Given the description of an element on the screen output the (x, y) to click on. 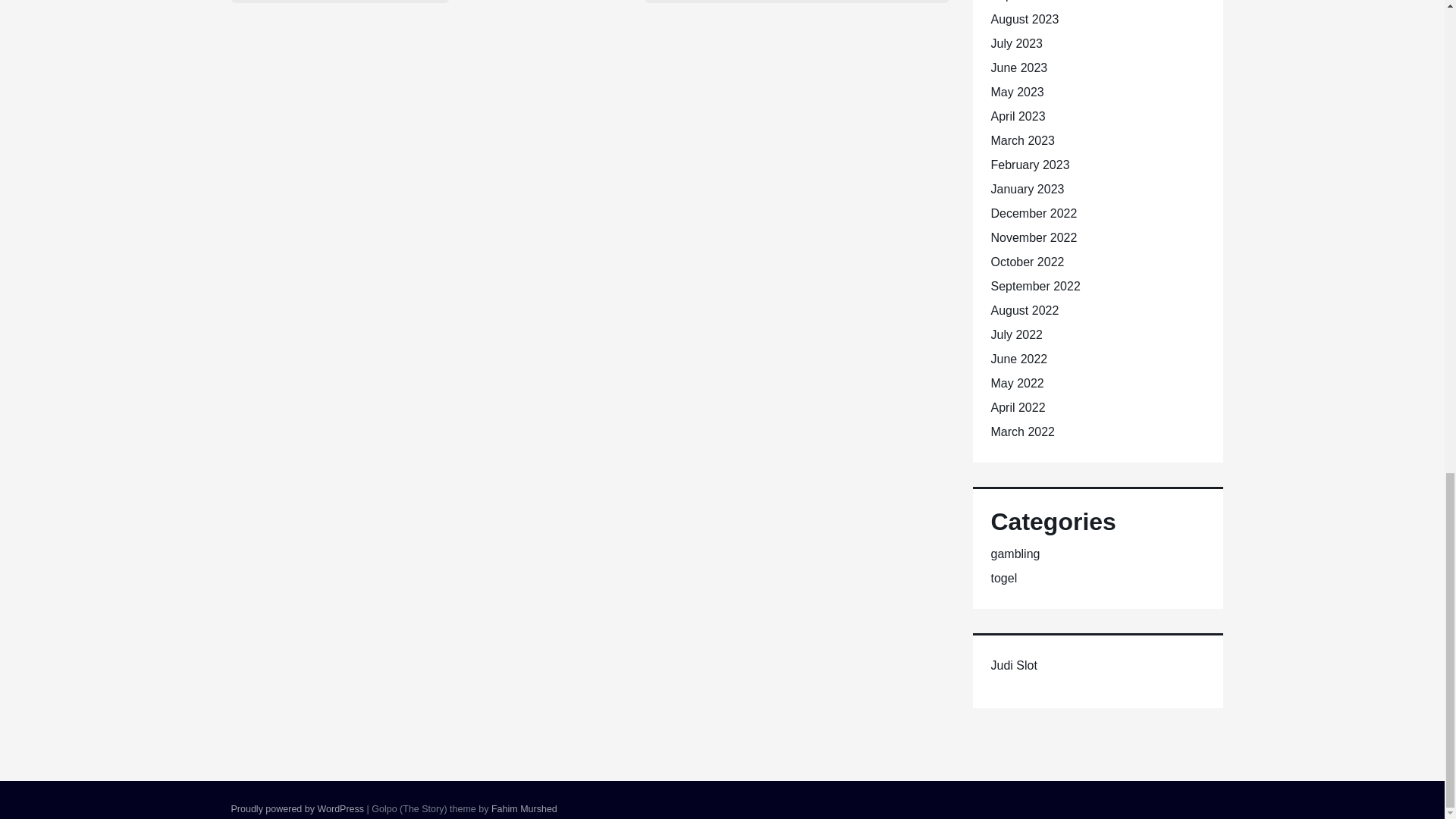
September 2022 (1035, 286)
May 2023 (1016, 91)
March 2023 (1022, 140)
April 2023 (1017, 115)
January 2023 (1027, 188)
October 2022 (1027, 261)
December 2022 (1033, 213)
August 2023 (1024, 19)
February 2023 (1029, 164)
September 2023 (1035, 0)
July 2023 (1016, 42)
June 2023 (1018, 67)
November 2022 (1033, 237)
August 2022 (1024, 309)
